Given the description of an element on the screen output the (x, y) to click on. 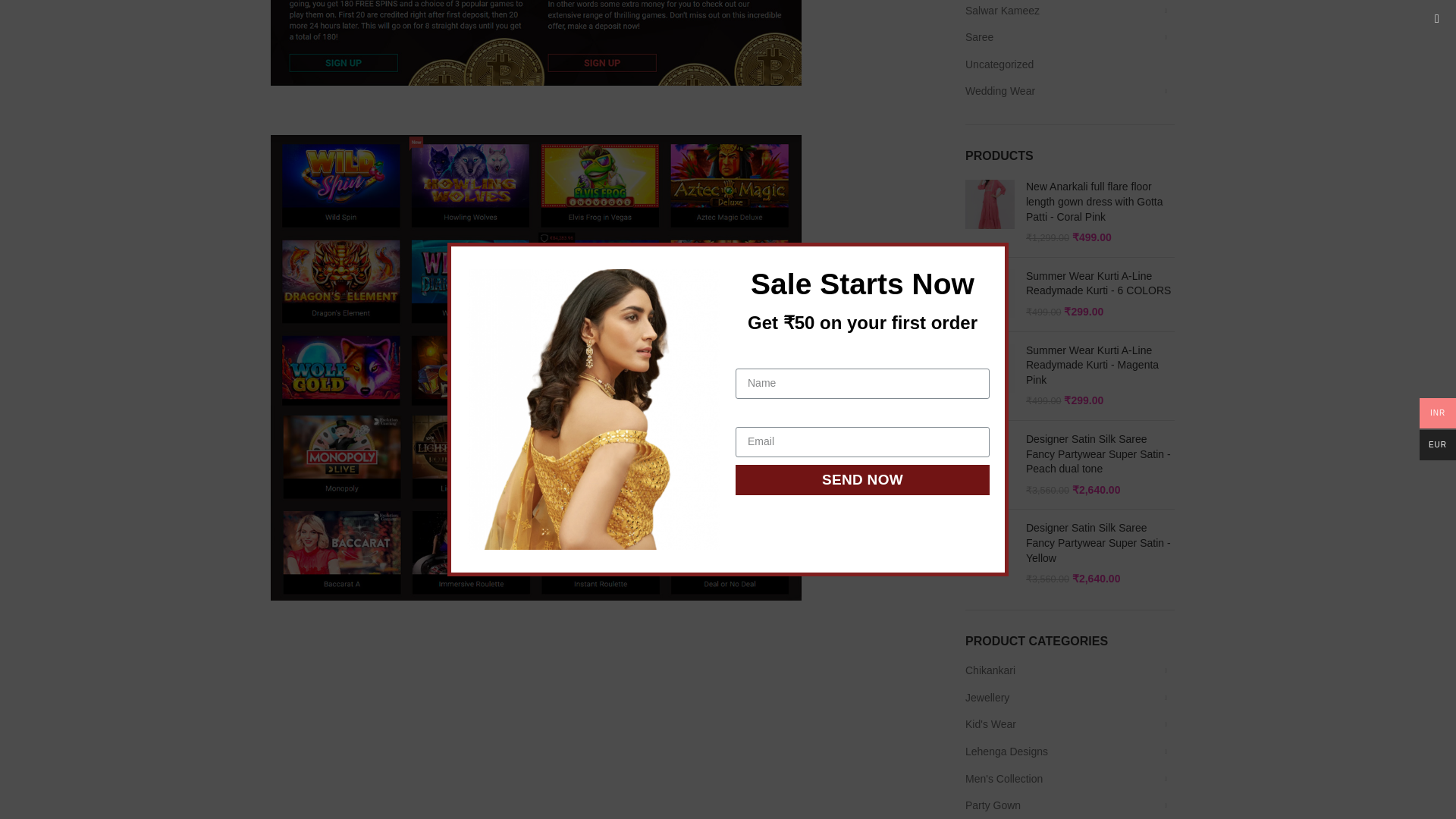
Spinning dvd (534, 42)
